Given the description of an element on the screen output the (x, y) to click on. 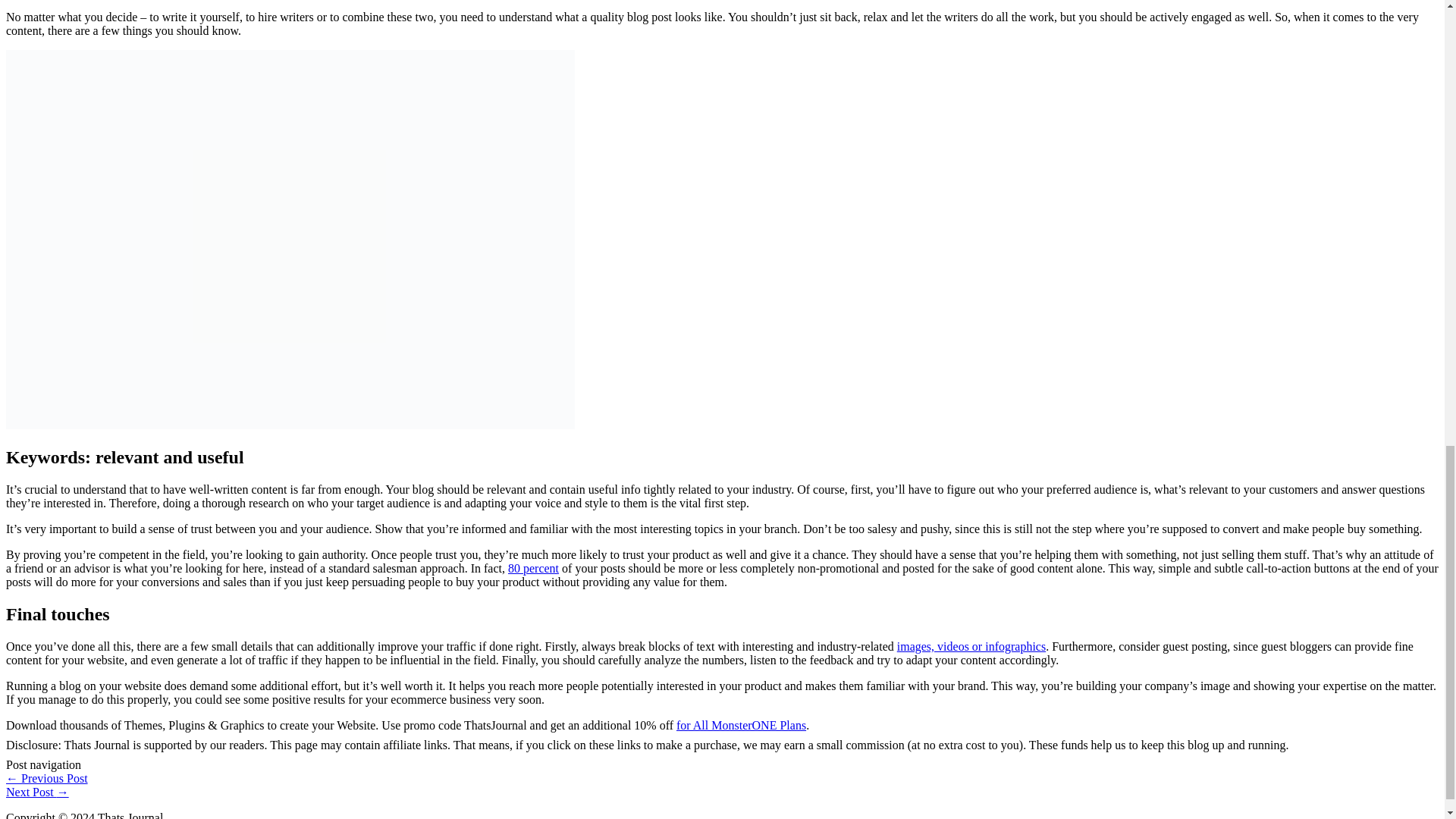
4 Tips On How To Get Your Food Instagram Account Famous (36, 791)
images, videos or infographics (970, 645)
80 percent (533, 567)
for All MonsterONE Plans (741, 725)
